Given the description of an element on the screen output the (x, y) to click on. 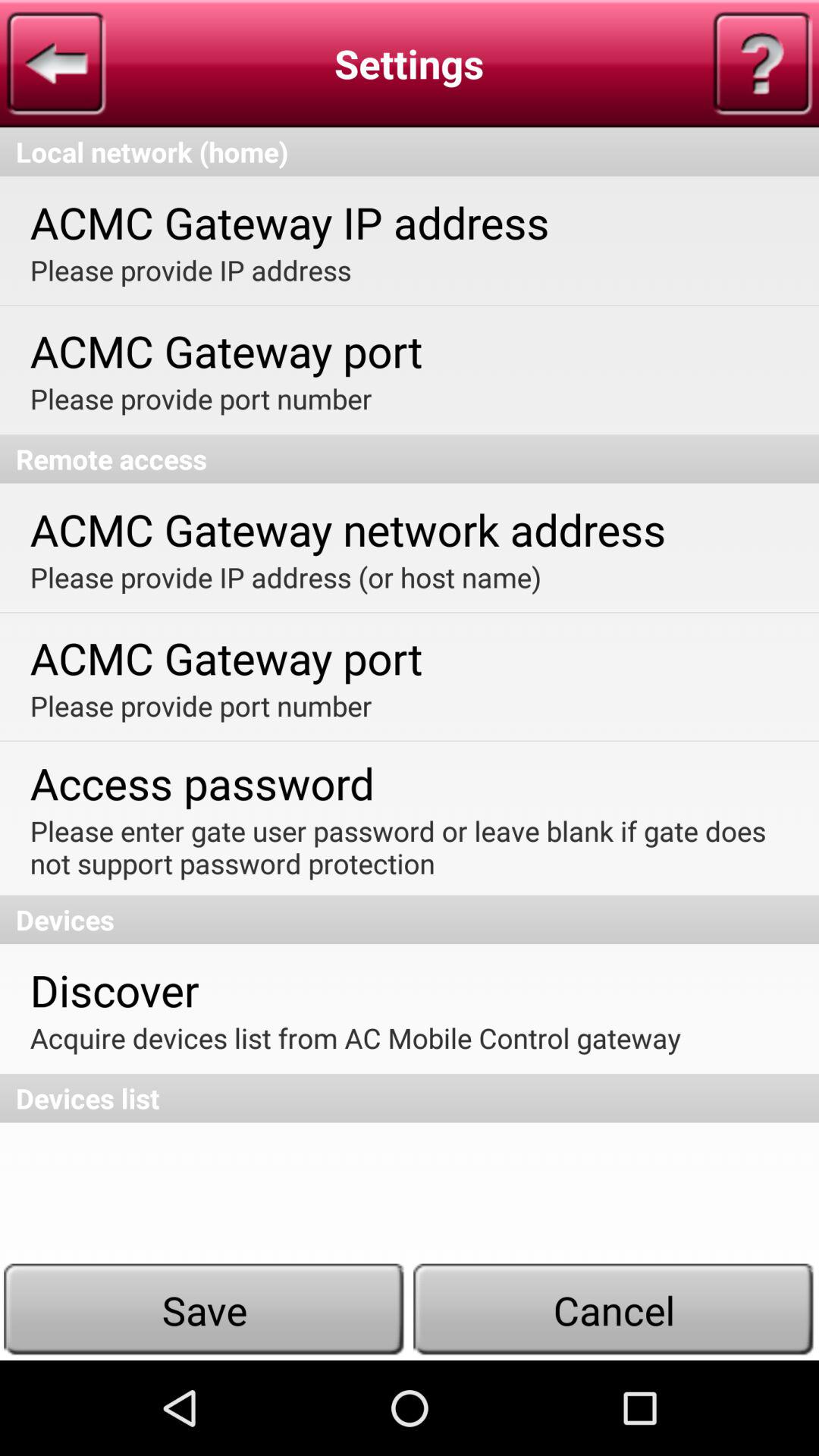
select the app to the right of the settings icon (762, 63)
